Given the description of an element on the screen output the (x, y) to click on. 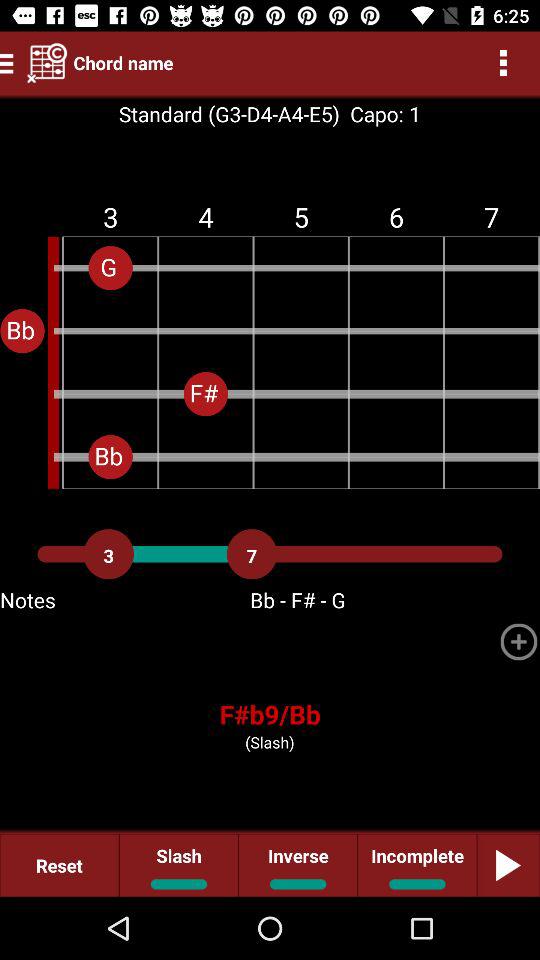
click the f#b9/bb icon (270, 713)
